Given the description of an element on the screen output the (x, y) to click on. 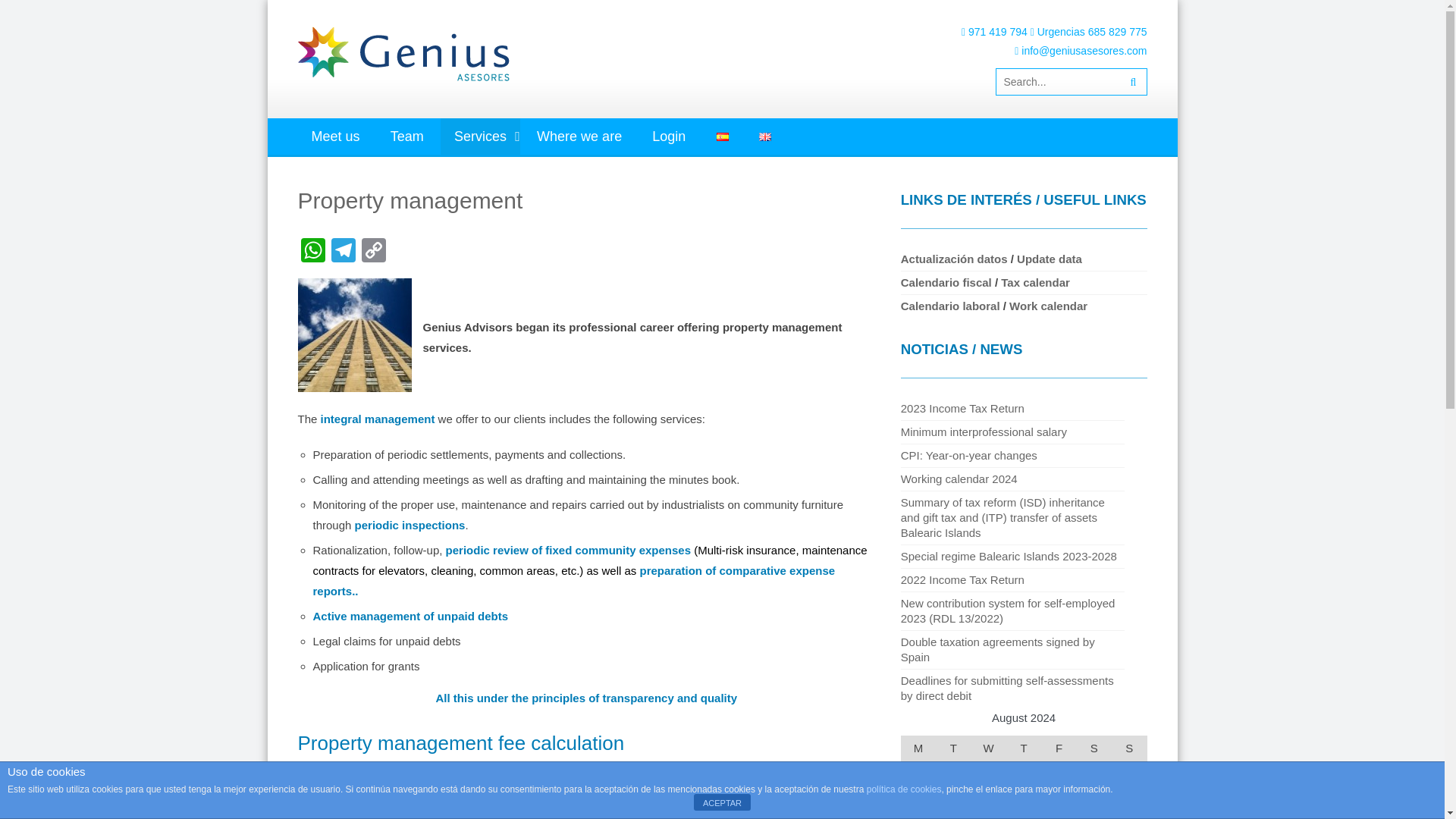
Calendario laboral (950, 305)
Copy Link (373, 252)
Telegram (342, 252)
Meet us (334, 135)
Monday (918, 748)
Saturday (1094, 748)
Update data (1048, 258)
WhatsApp (312, 252)
Work calendar (1046, 305)
2023 Income Tax Return (963, 408)
